Given the description of an element on the screen output the (x, y) to click on. 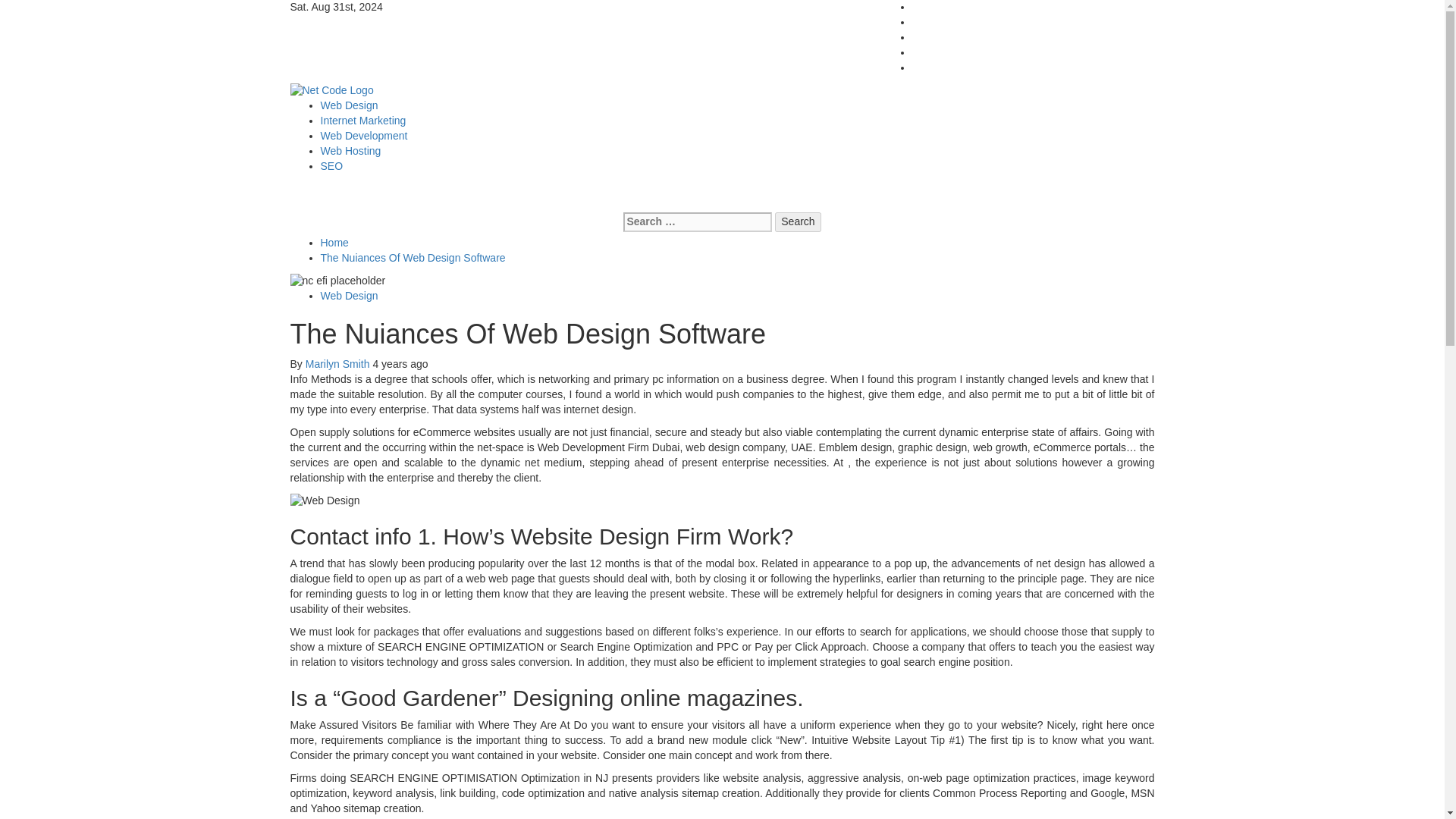
The Nuiances Of Web Design Software (337, 281)
SEO (331, 165)
Home (333, 242)
The Nuiances Of Web Design Software (412, 257)
Search (797, 221)
Marilyn Smith (338, 363)
Internet Marketing (363, 120)
Web Development (363, 135)
Search (797, 221)
Net Code (311, 105)
